Given the description of an element on the screen output the (x, y) to click on. 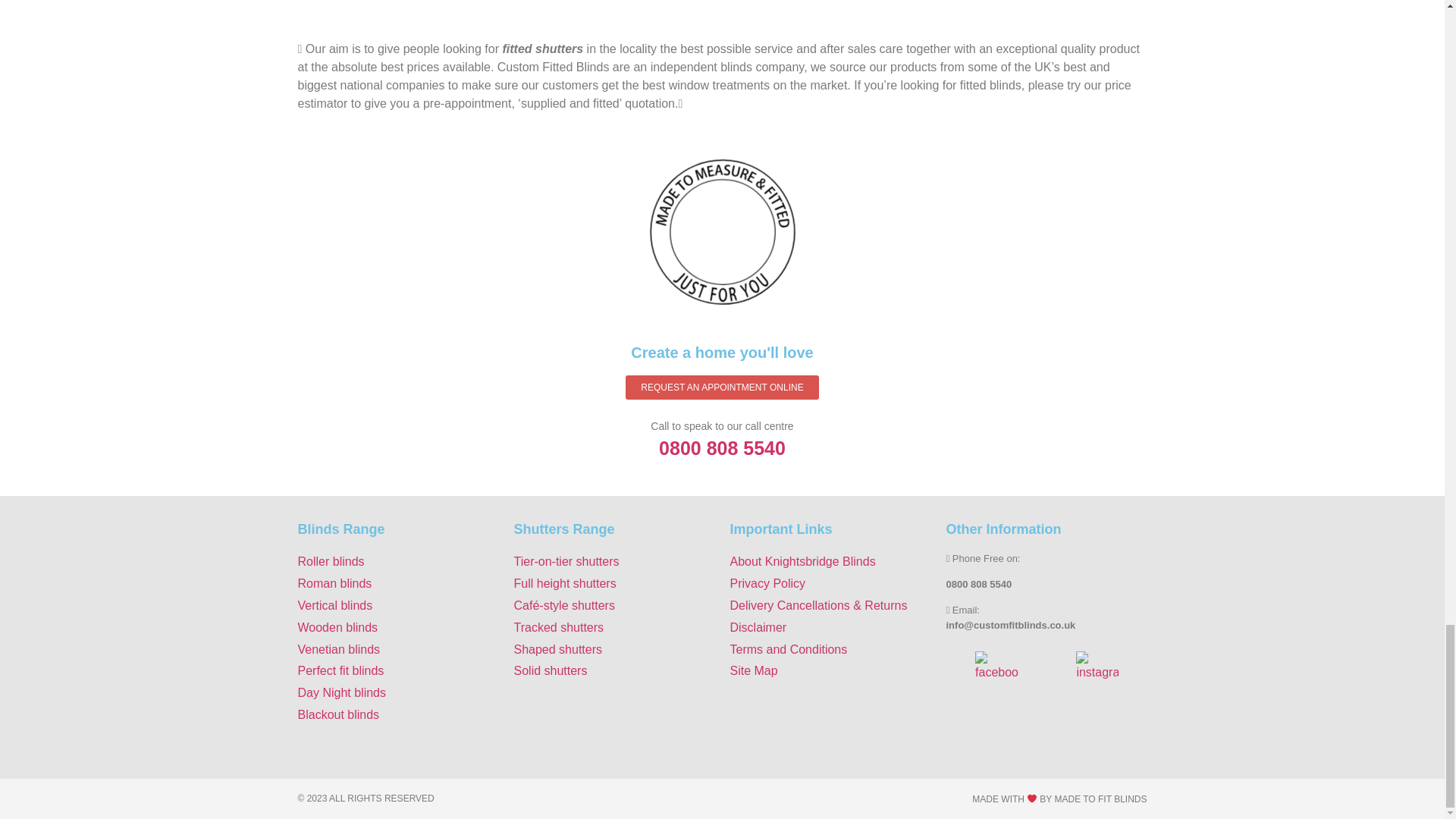
facebook1.png (996, 666)
instagram.png (1096, 666)
